Given the description of an element on the screen output the (x, y) to click on. 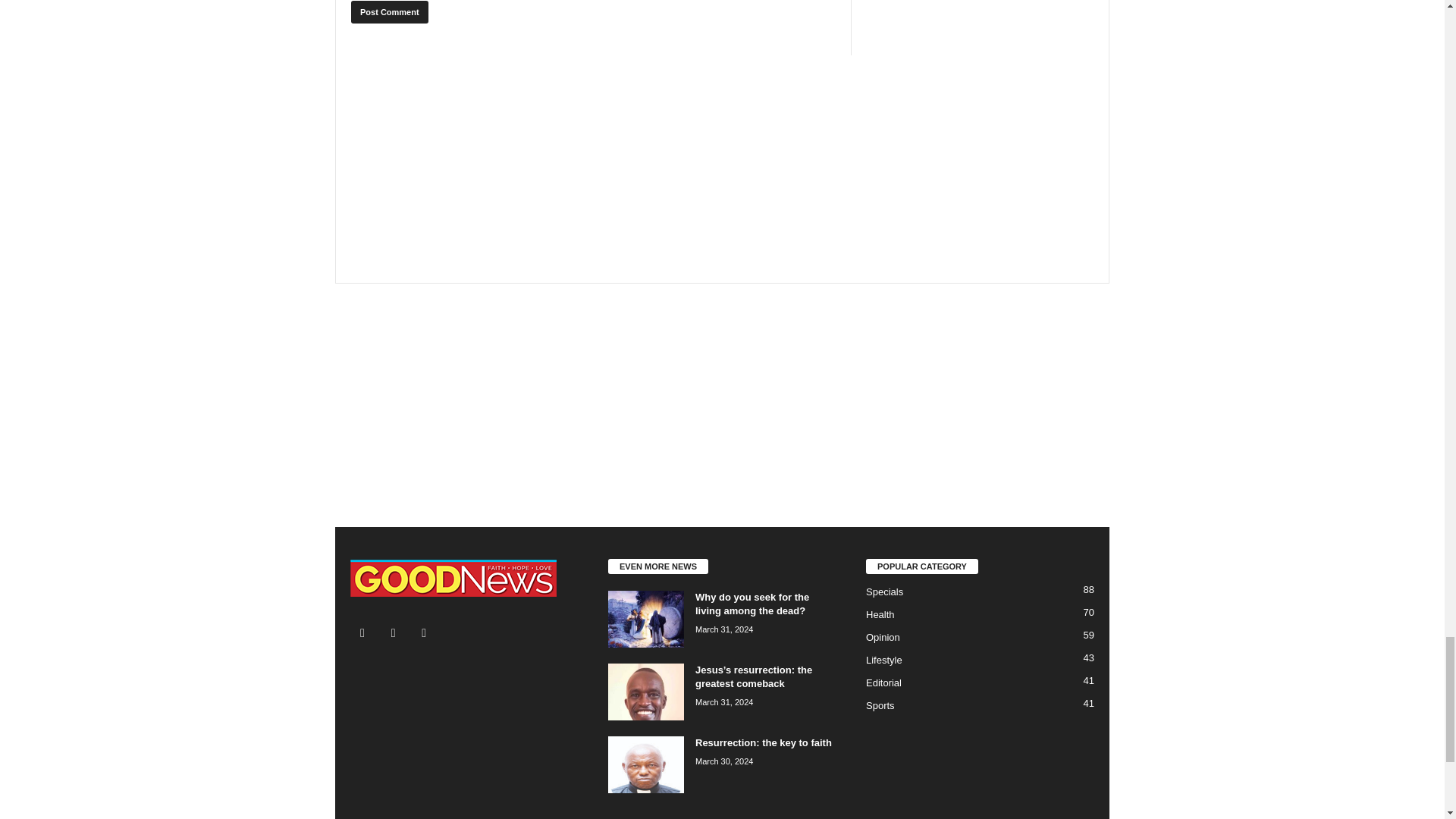
Post Comment (389, 11)
